Given the description of an element on the screen output the (x, y) to click on. 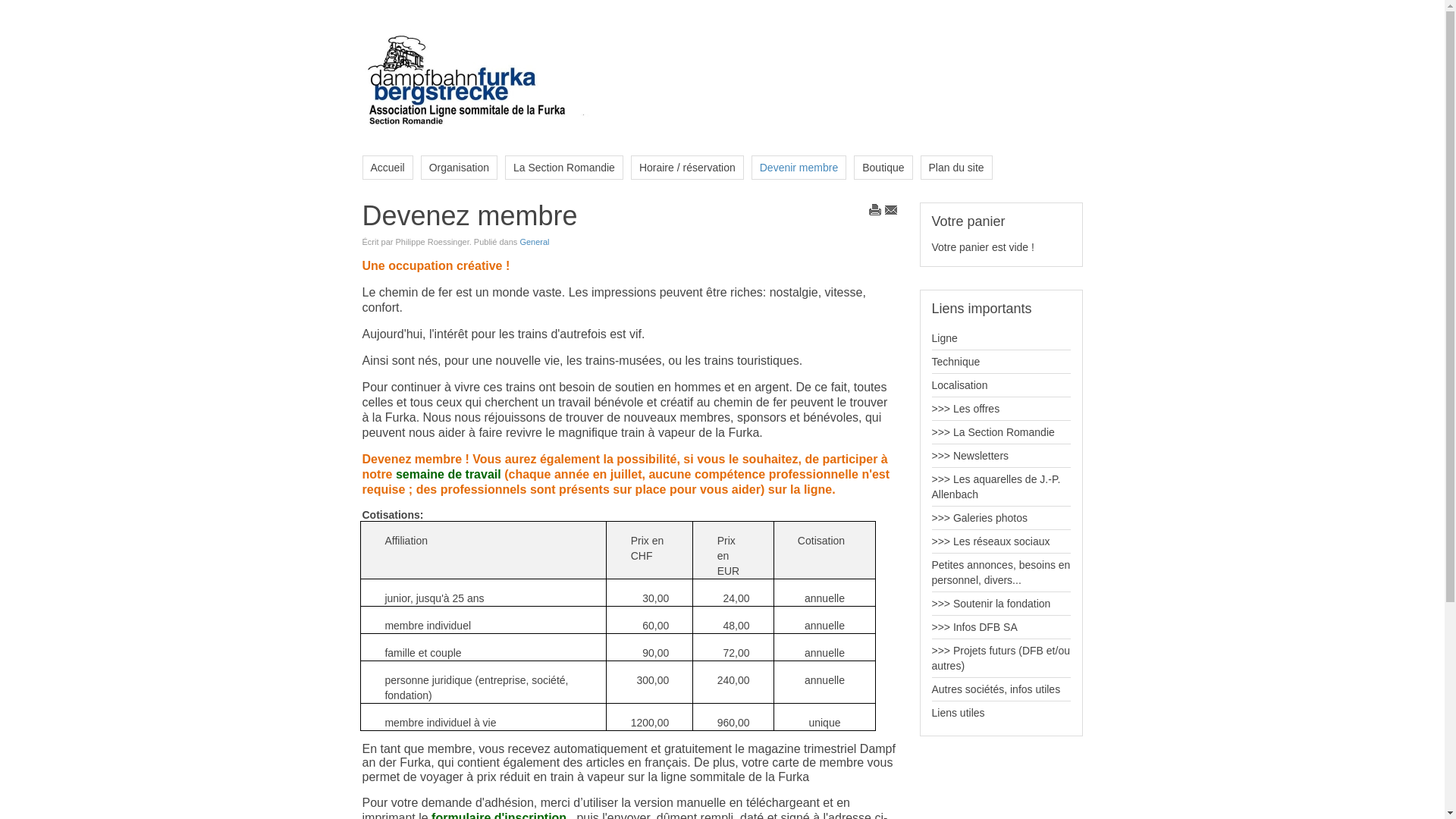
Accueil Element type: text (387, 167)
Localisation Element type: text (1000, 384)
Petites annonces, besoins en personnel, divers... Element type: text (1000, 572)
semaine de travail Element type: text (448, 473)
Technique Element type: text (1000, 361)
Ligne Element type: text (1000, 337)
>>> Infos DFB SA Element type: text (1000, 626)
>>> Galeries photos Element type: text (1000, 517)
Liens utiles Element type: text (1000, 712)
>>> Les offres Element type: text (1000, 408)
>>> Projets futurs (DFB et/ou autres) Element type: text (1000, 658)
La Section Romandie Element type: text (564, 167)
>>> Soutenir la fondation Element type: text (1000, 603)
>>> Les aquarelles de J.-P. Allenbach Element type: text (1000, 486)
Boutique Element type: text (882, 167)
Plan du site Element type: text (956, 167)
Devenir membre Element type: text (798, 167)
Organisation Element type: text (458, 167)
Imprimer Element type: hover (875, 212)
>>> La Section Romandie Element type: text (1000, 431)
E-mail Element type: hover (890, 212)
General Element type: text (534, 241)
>>> Newsletters Element type: text (1000, 455)
